Given the description of an element on the screen output the (x, y) to click on. 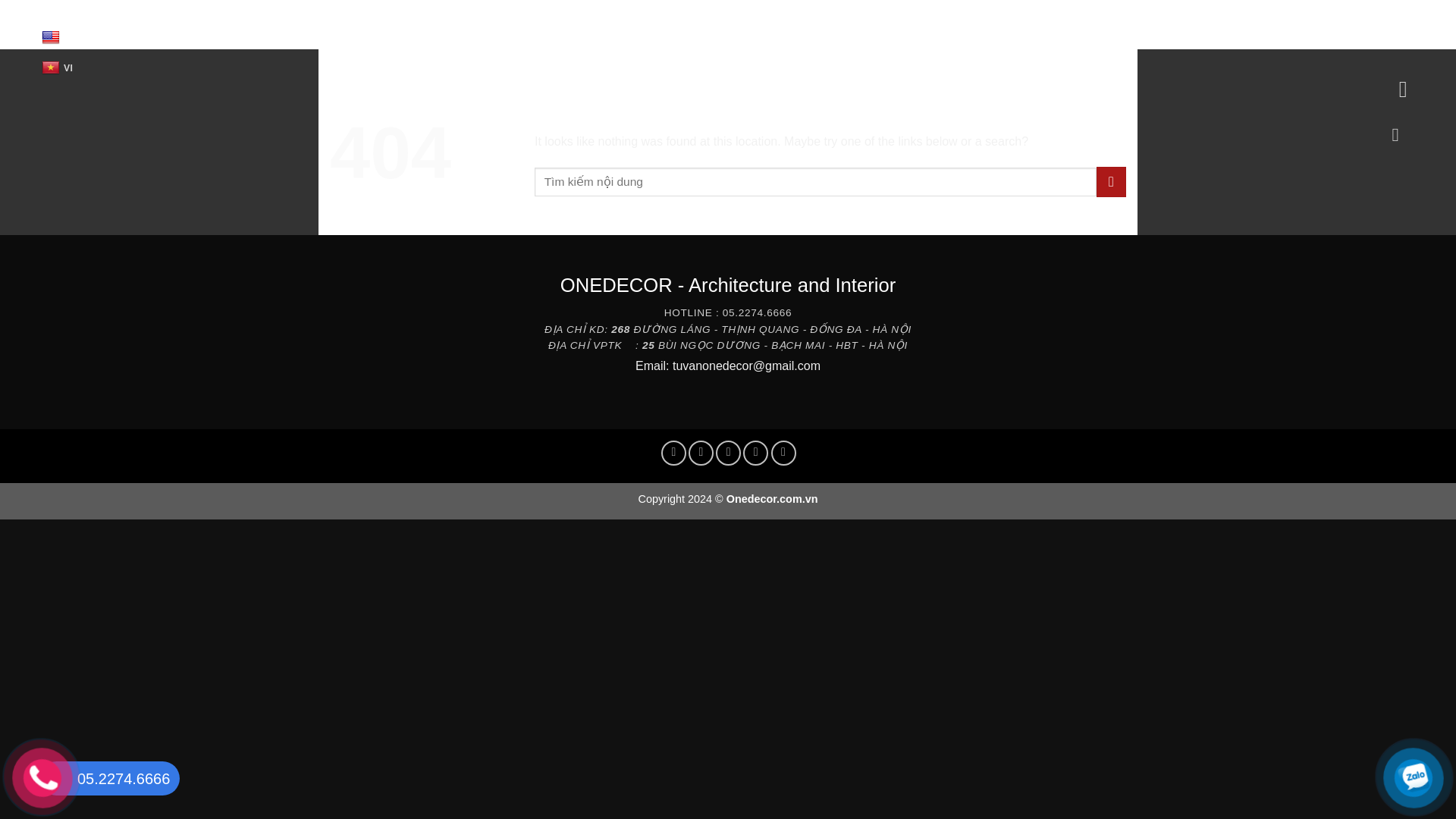
Pin on Pinterest (755, 453)
Vietnamese (57, 68)
EN (59, 37)
Share on Facebook (673, 453)
Share on Twitter (700, 453)
Share on LinkedIn (783, 453)
VI (57, 68)
Email to a Friend (728, 453)
English (59, 37)
